Given the description of an element on the screen output the (x, y) to click on. 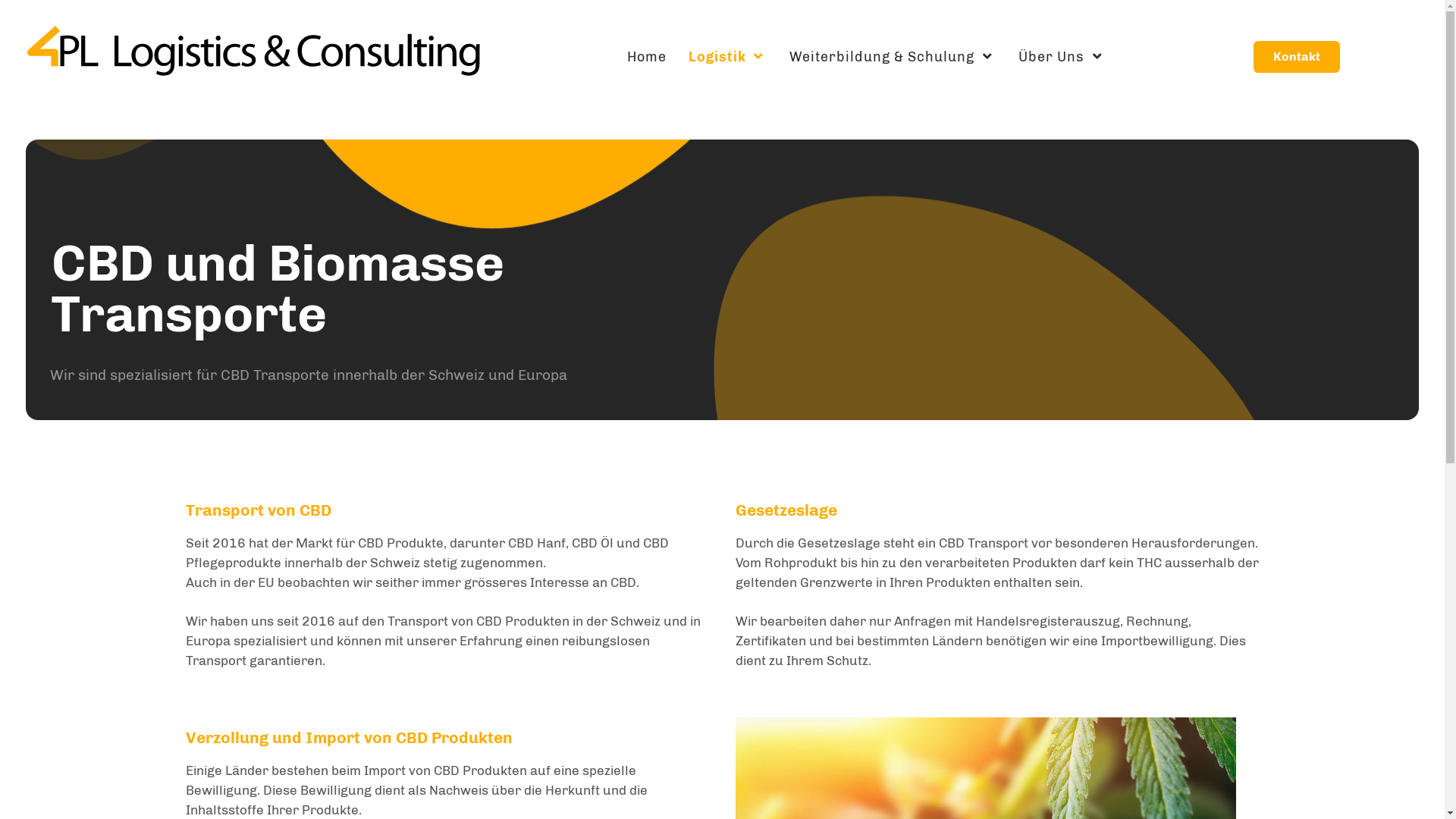
Gesetzeslage Element type: text (786, 509)
Transport von CBD Element type: text (257, 509)
Kontakt Element type: text (1296, 56)
Home Element type: text (646, 56)
Verzollung und Import von CBD Produkten Element type: text (348, 737)
